Given the description of an element on the screen output the (x, y) to click on. 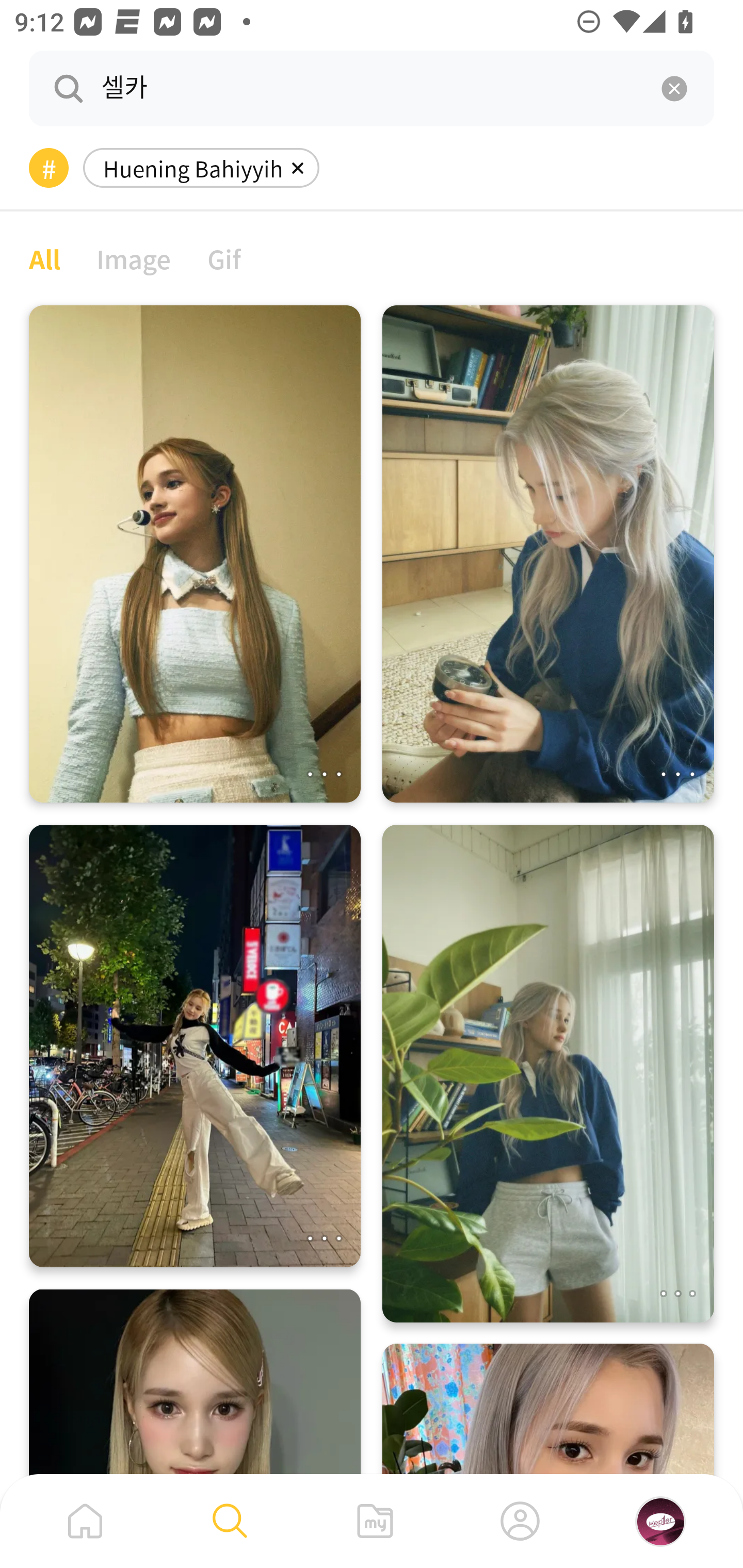
All (44, 257)
Image (133, 257)
Gif (223, 257)
